Given the description of an element on the screen output the (x, y) to click on. 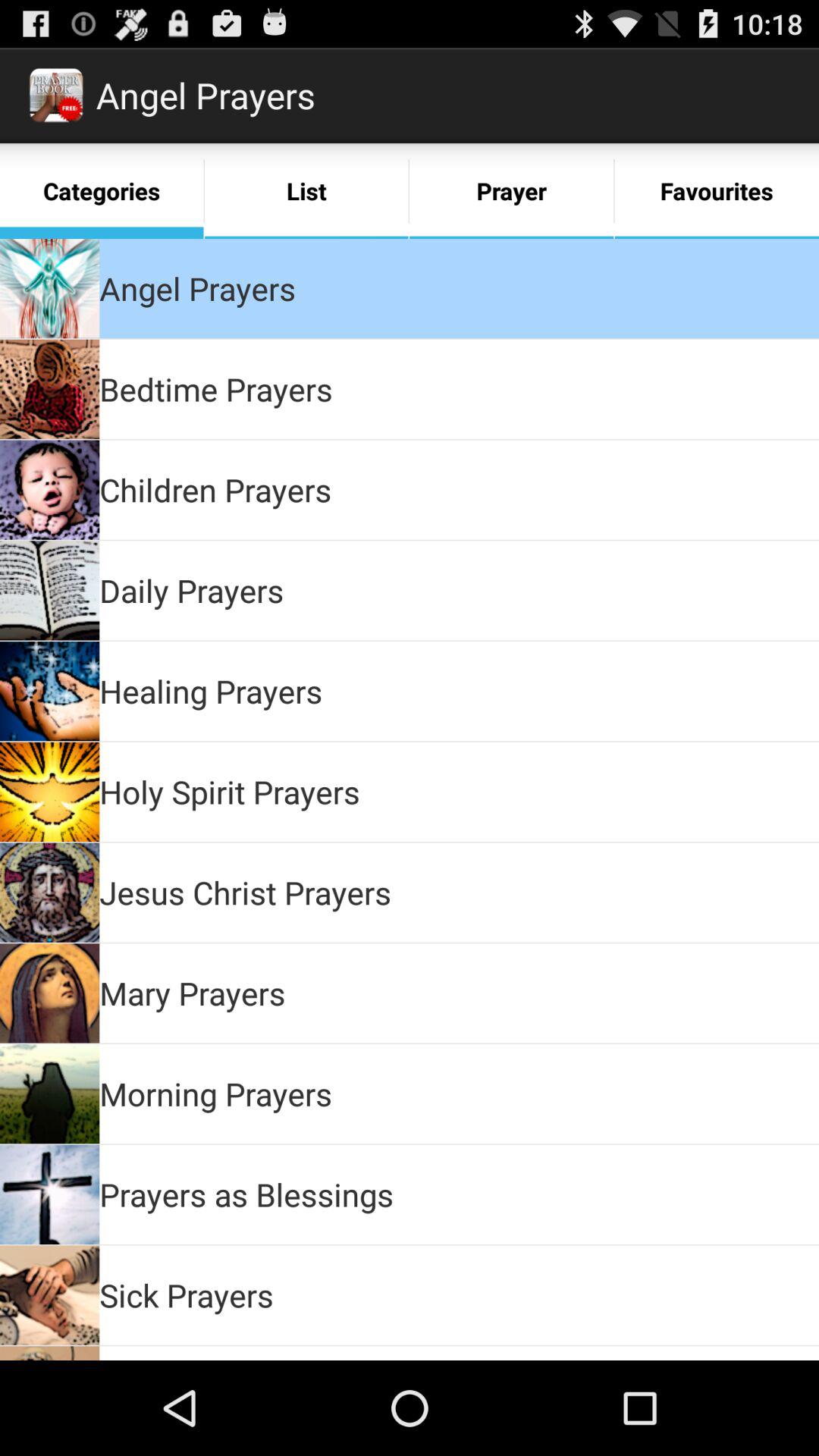
jump until the prayers as blessings item (246, 1193)
